Given the description of an element on the screen output the (x, y) to click on. 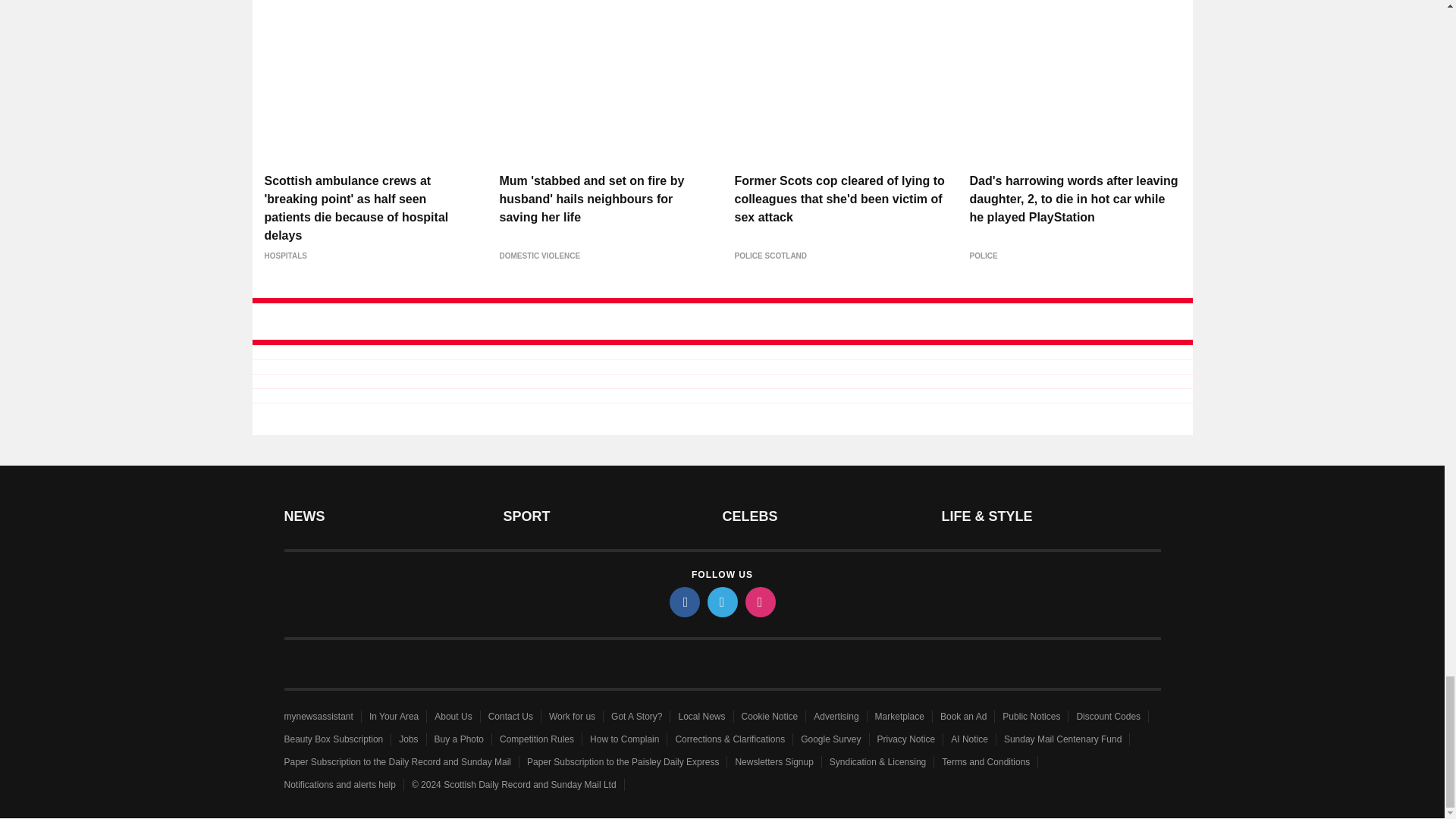
instagram (759, 602)
facebook (683, 602)
twitter (721, 602)
